Given the description of an element on the screen output the (x, y) to click on. 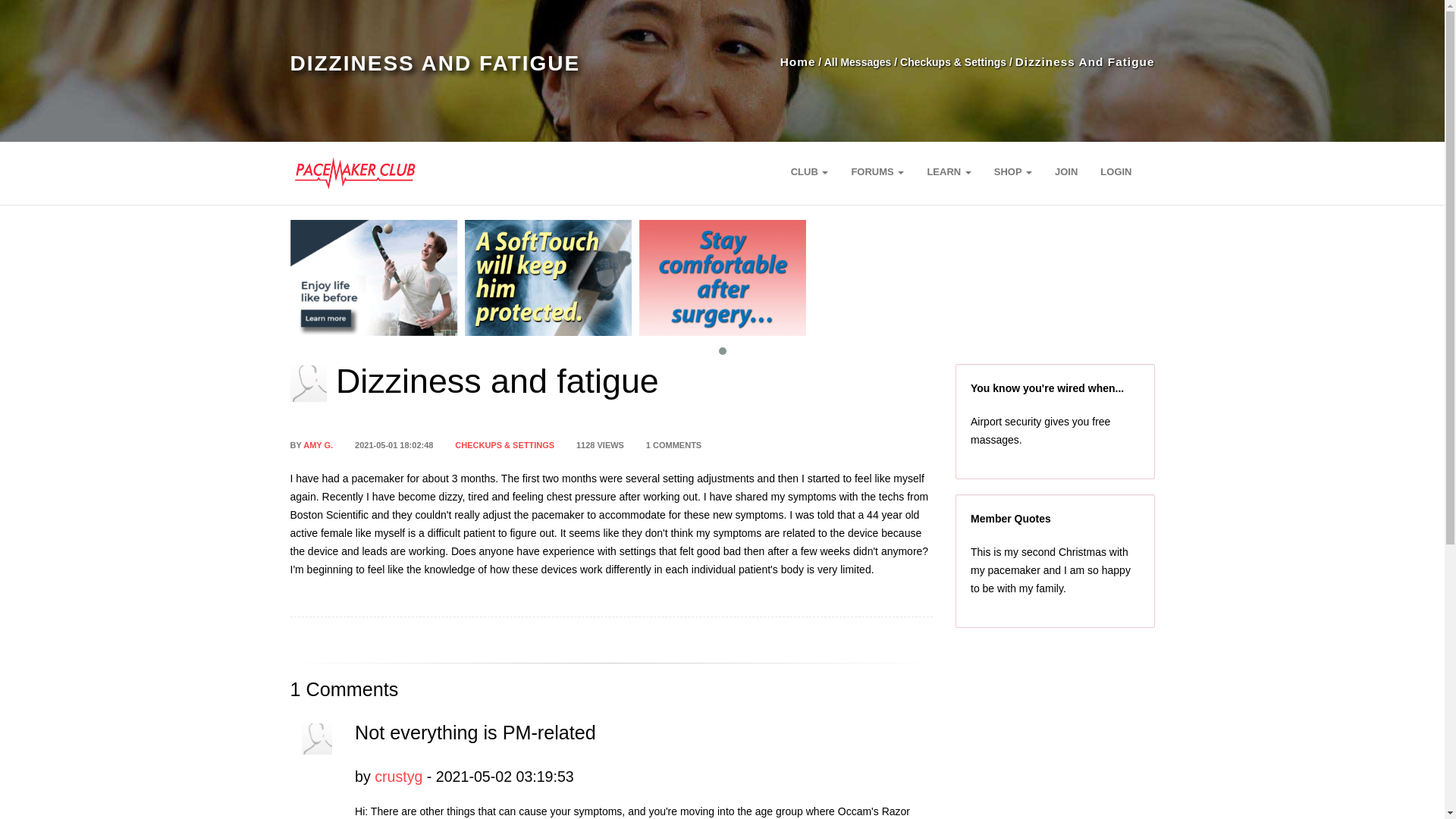
Home (797, 61)
All Messages (857, 61)
CLUB (809, 171)
LOGIN (1115, 171)
LEARN (948, 171)
JOIN (1066, 171)
FORUMS (877, 171)
SHOP (1012, 171)
